Given the description of an element on the screen output the (x, y) to click on. 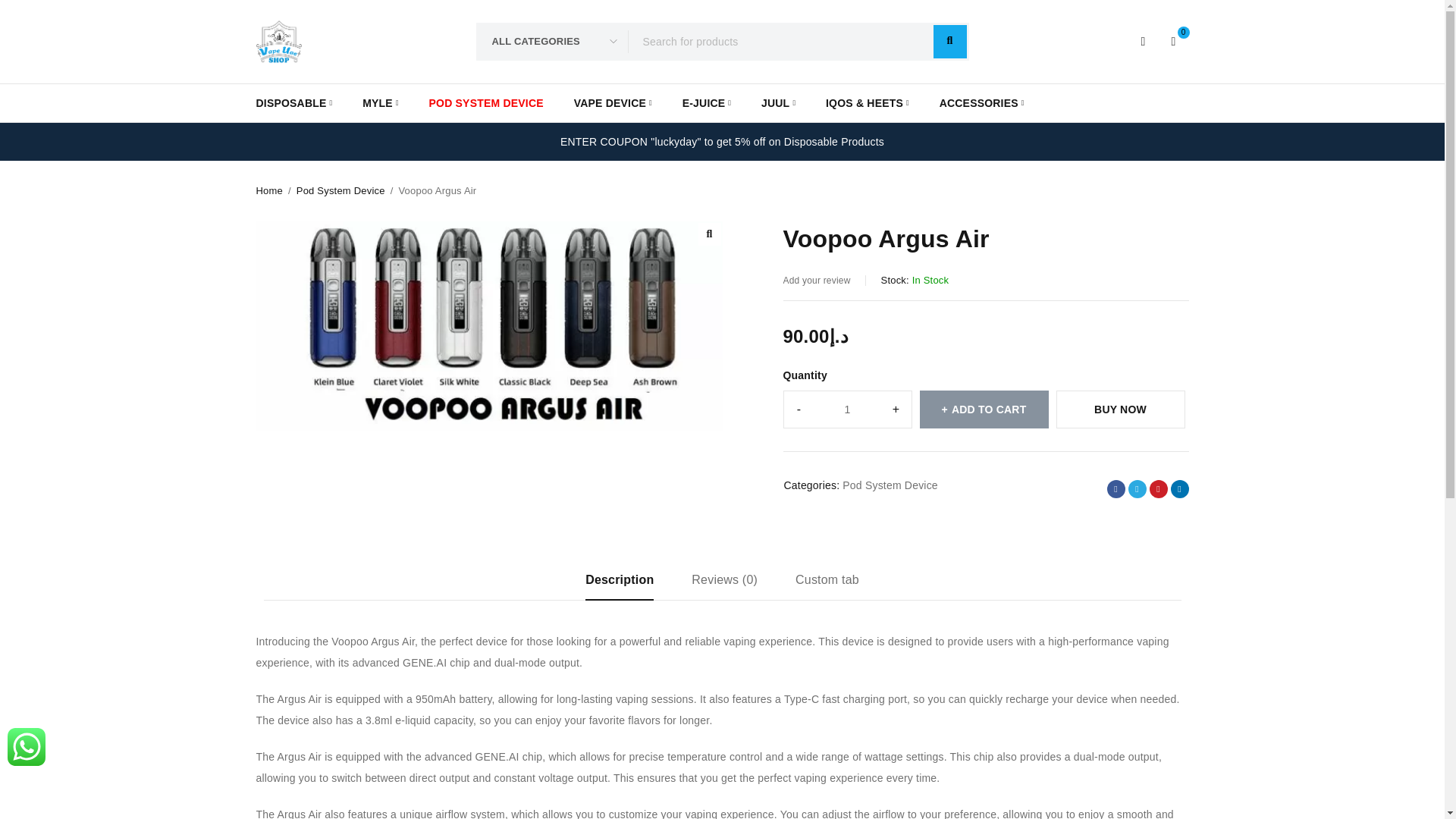
VAPE DEVICE (612, 102)
1 (847, 409)
Login or Register (1143, 41)
VapeUaeShop (278, 41)
MYLE (379, 102)
Search (949, 41)
Search (949, 41)
POD SYSTEM DEVICE (486, 102)
DISPOSABLE (294, 102)
Search (949, 41)
